Given the description of an element on the screen output the (x, y) to click on. 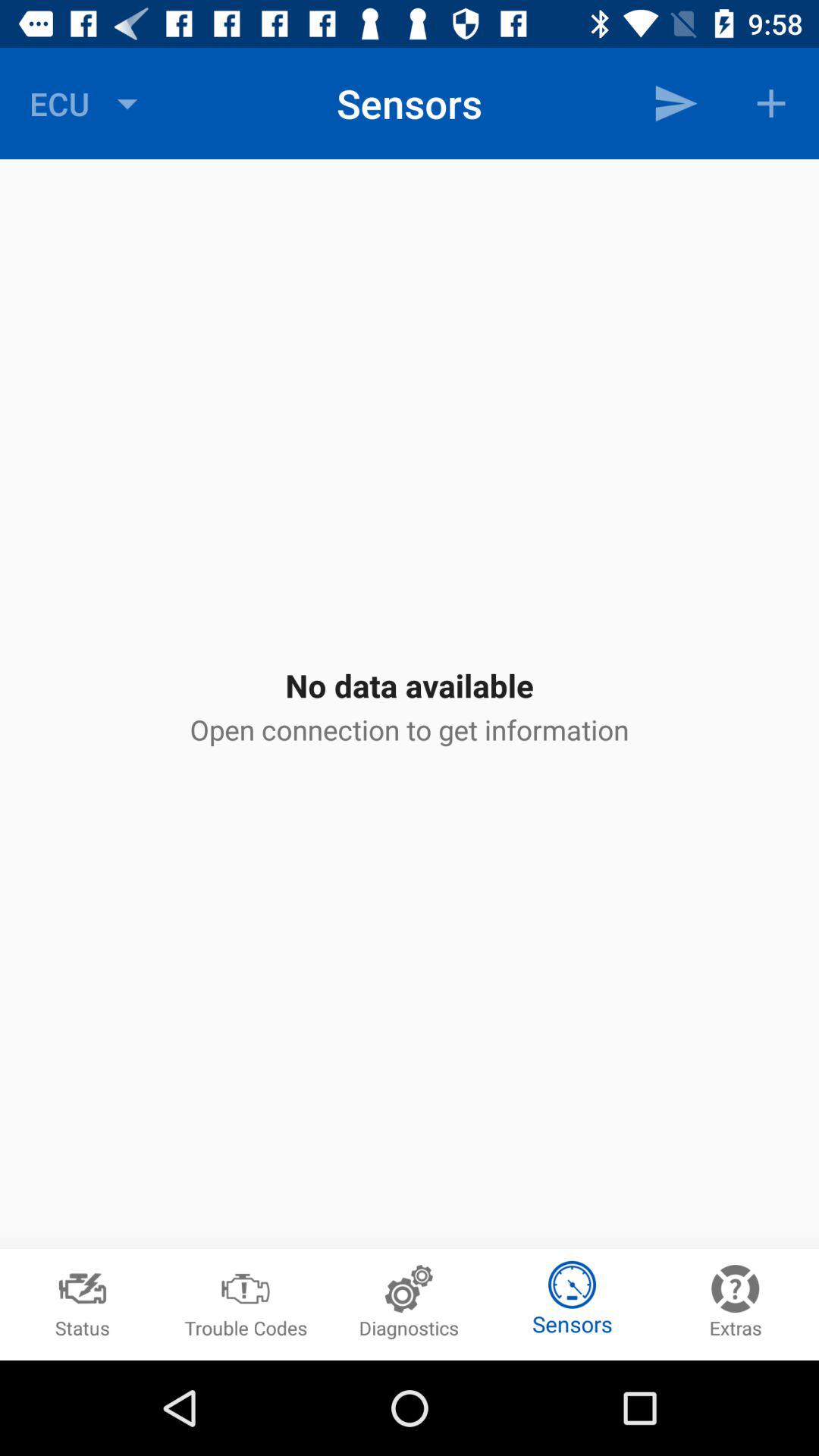
turn off the ecu at the top left corner (87, 103)
